Given the description of an element on the screen output the (x, y) to click on. 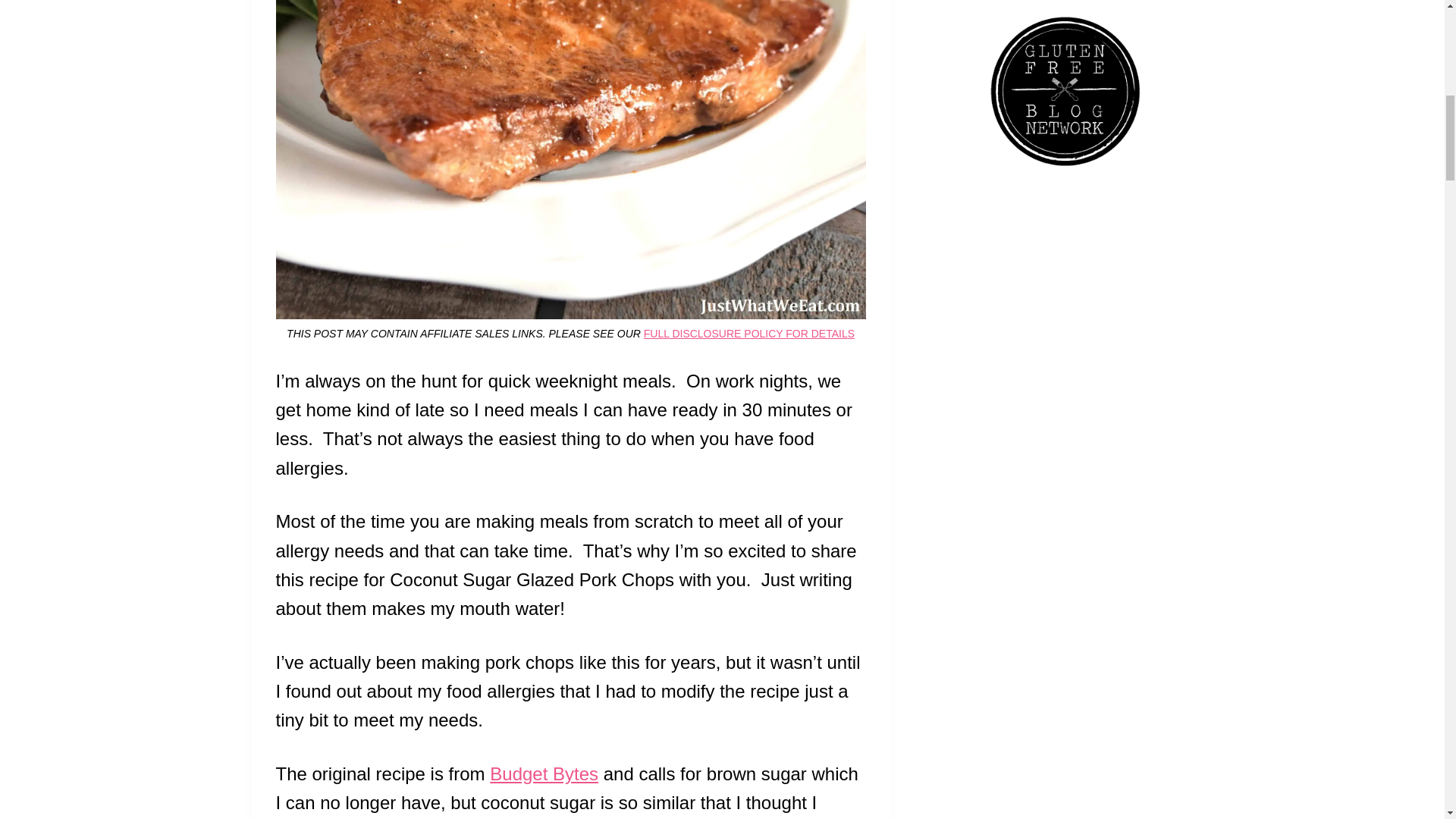
FULL DISCLOSURE POLICY FOR DETAILS (748, 333)
gluten free blog network (1065, 91)
Budget Bytes (543, 773)
